Given the description of an element on the screen output the (x, y) to click on. 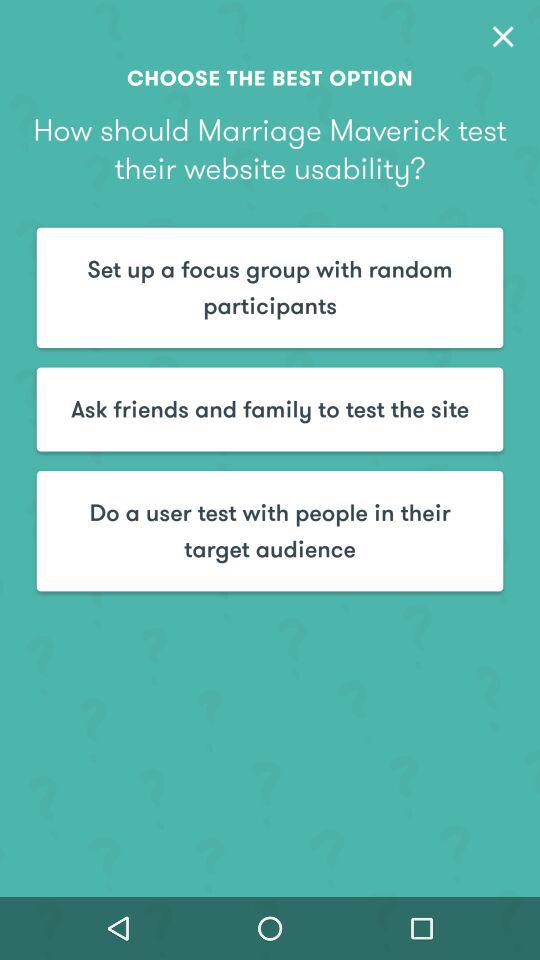
press item above how should marriage item (503, 36)
